Given the description of an element on the screen output the (x, y) to click on. 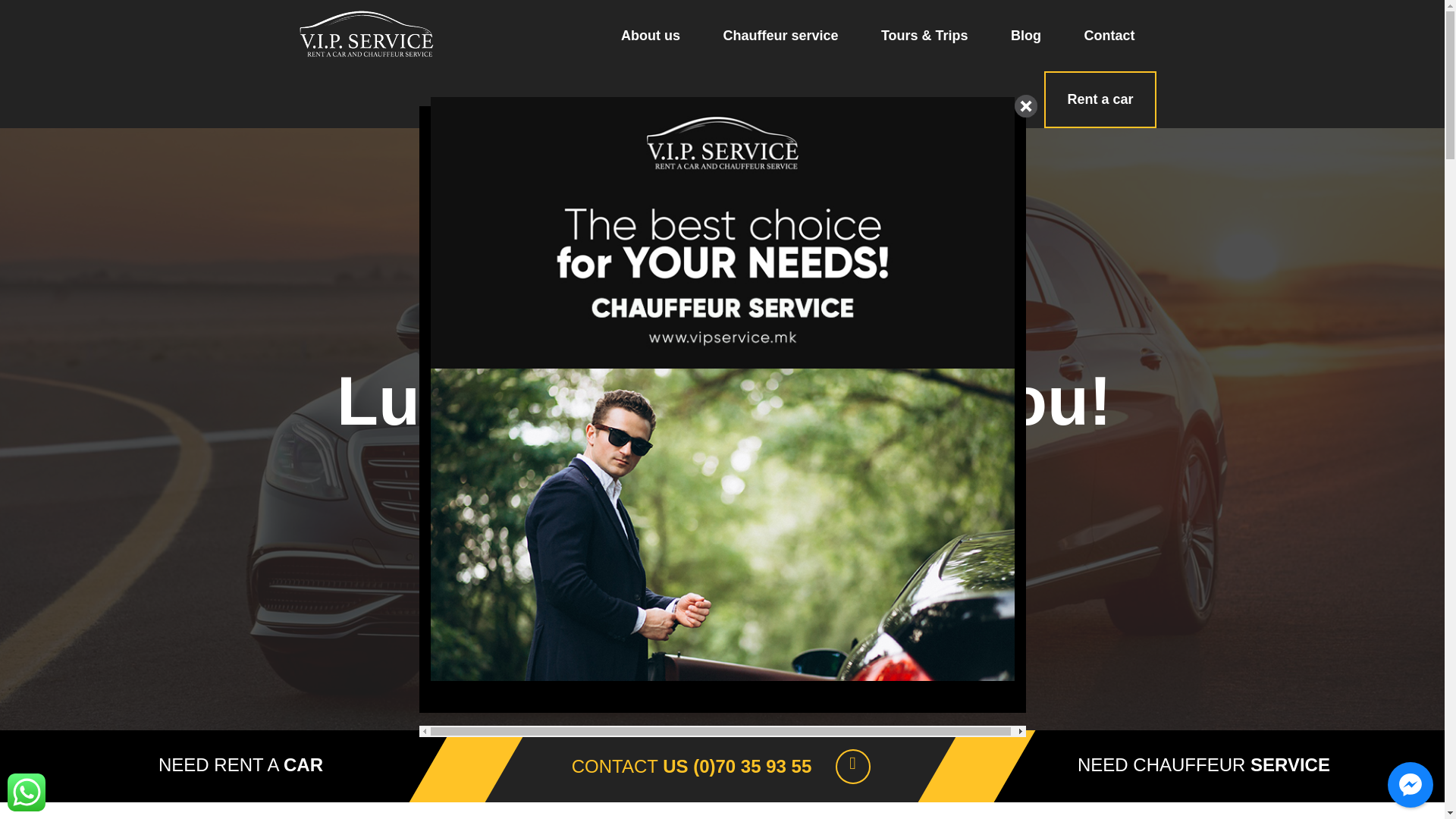
NEED RENT A CAR (240, 764)
Rent a car (1099, 99)
NEED CHAUFFEUR SERVICE (1203, 764)
Chauffeur service (780, 35)
GET A QUOTE (755, 501)
